Given the description of an element on the screen output the (x, y) to click on. 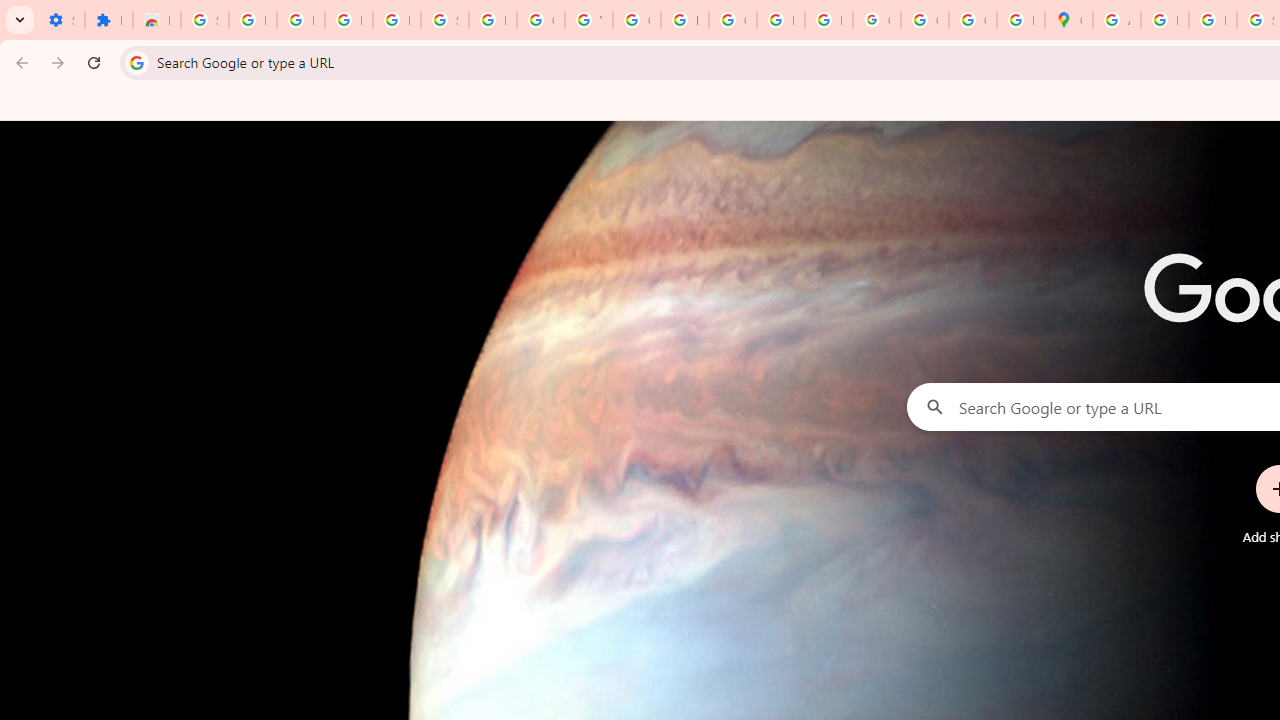
Extensions (108, 20)
Delete photos & videos - Computer - Google Photos Help (300, 20)
YouTube (588, 20)
https://scholar.google.com/ (684, 20)
Sign in - Google Accounts (204, 20)
Search icon (136, 62)
Reviews: Helix Fruit Jump Arcade Game (156, 20)
Learn how to find your photos - Google Photos Help (348, 20)
